Given the description of an element on the screen output the (x, y) to click on. 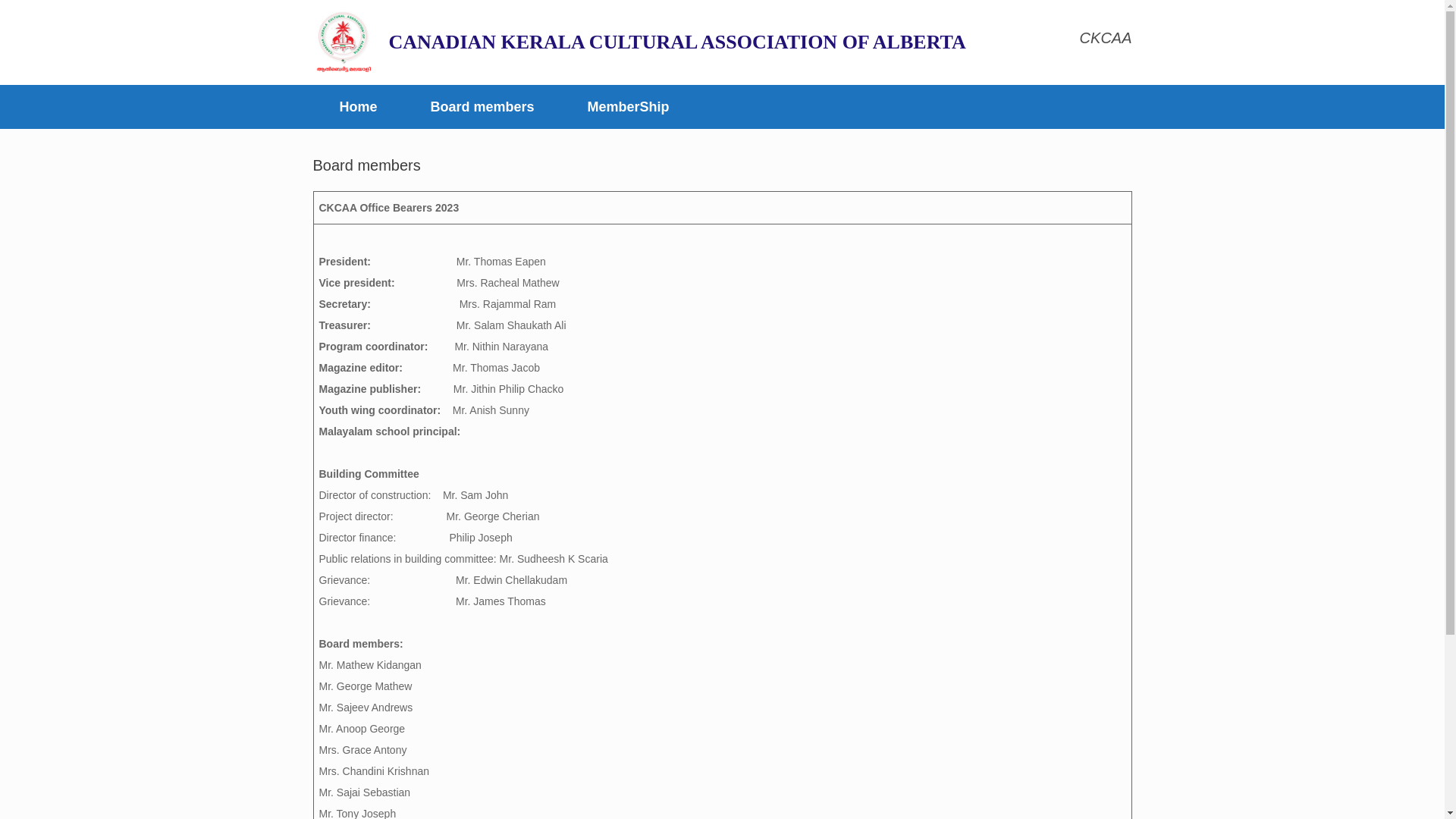
Home Element type: text (357, 106)
CANADIAN KERALA CULTURAL ASSOCIATION OF ALBERTA Element type: text (638, 42)
MemberShip Element type: text (628, 106)
Board members Element type: text (482, 106)
